Given the description of an element on the screen output the (x, y) to click on. 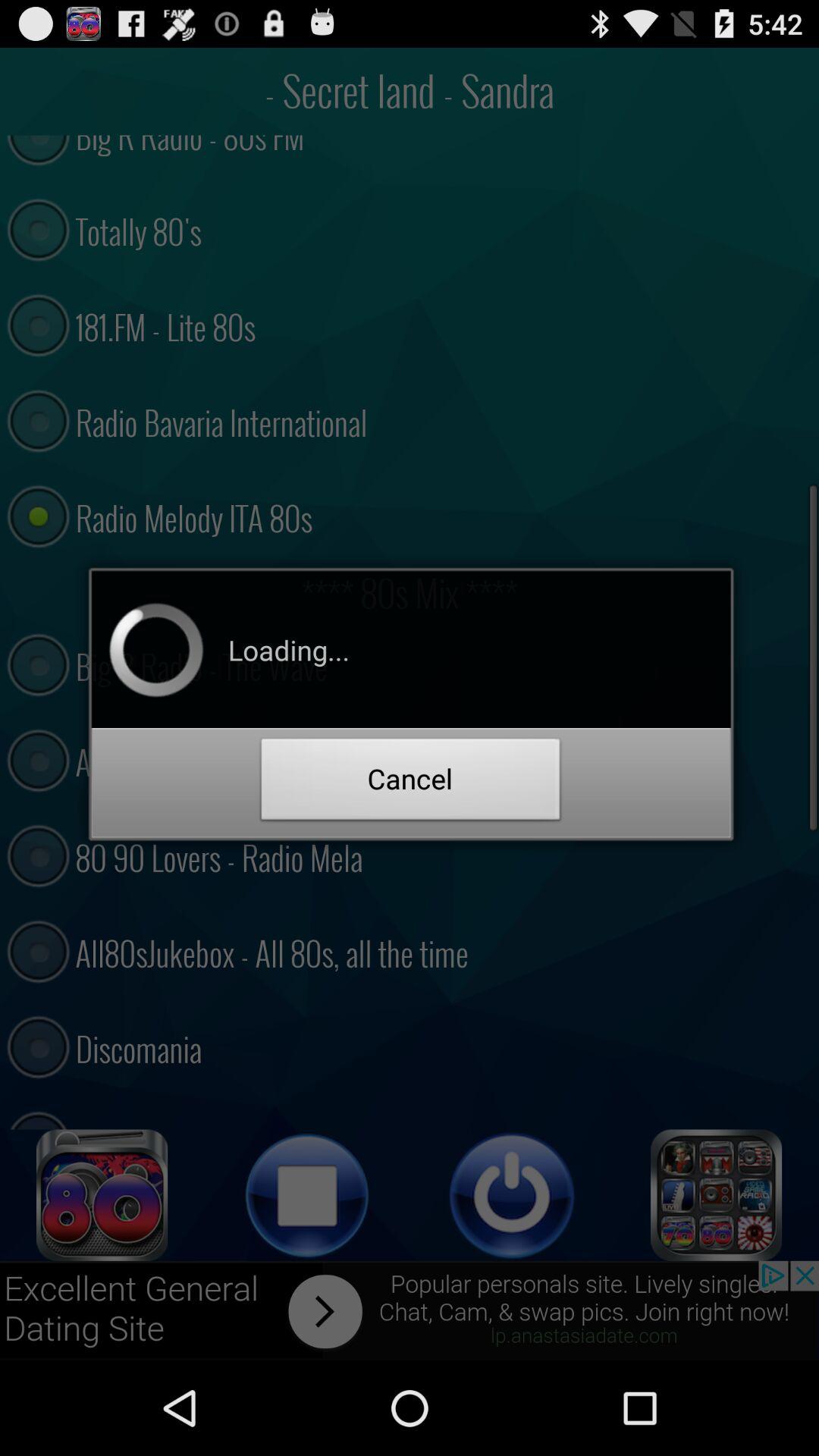
go to advertisement advertisement (409, 1310)
